Given the description of an element on the screen output the (x, y) to click on. 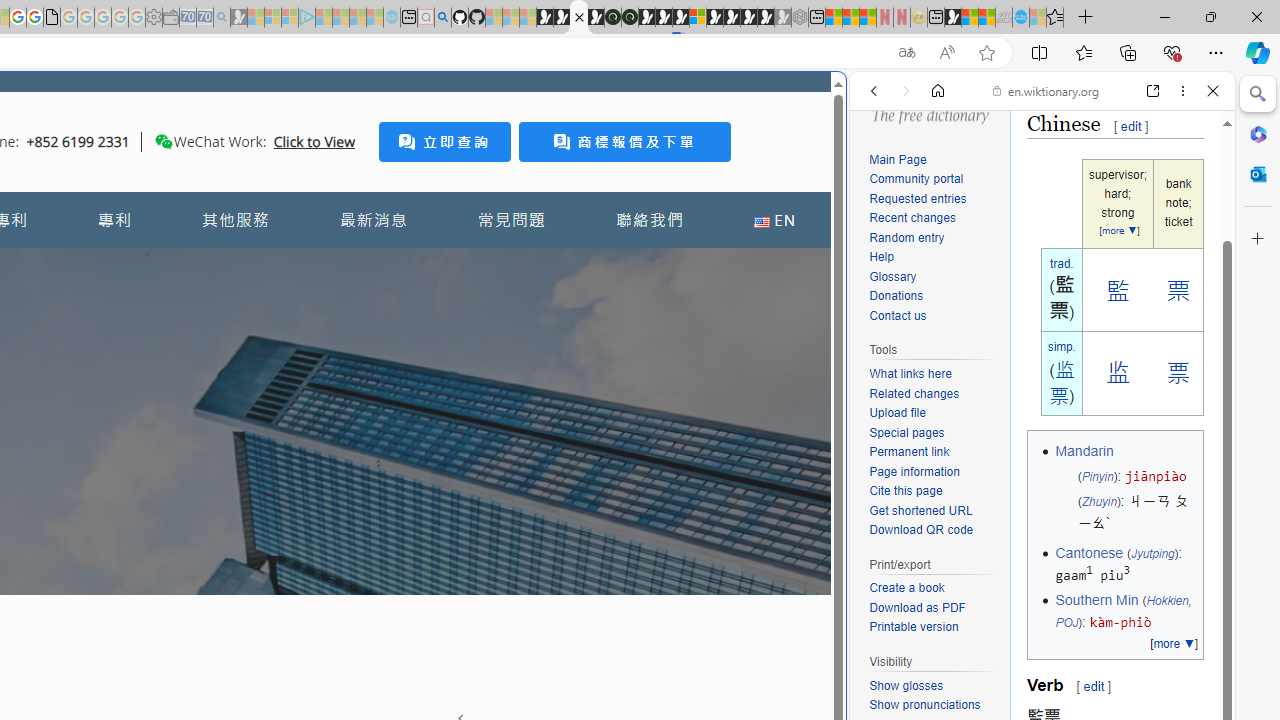
Printable version (913, 627)
EN (774, 220)
Close split screen (844, 102)
Frequently visited (418, 265)
Download QR code (934, 530)
